Given the description of an element on the screen output the (x, y) to click on. 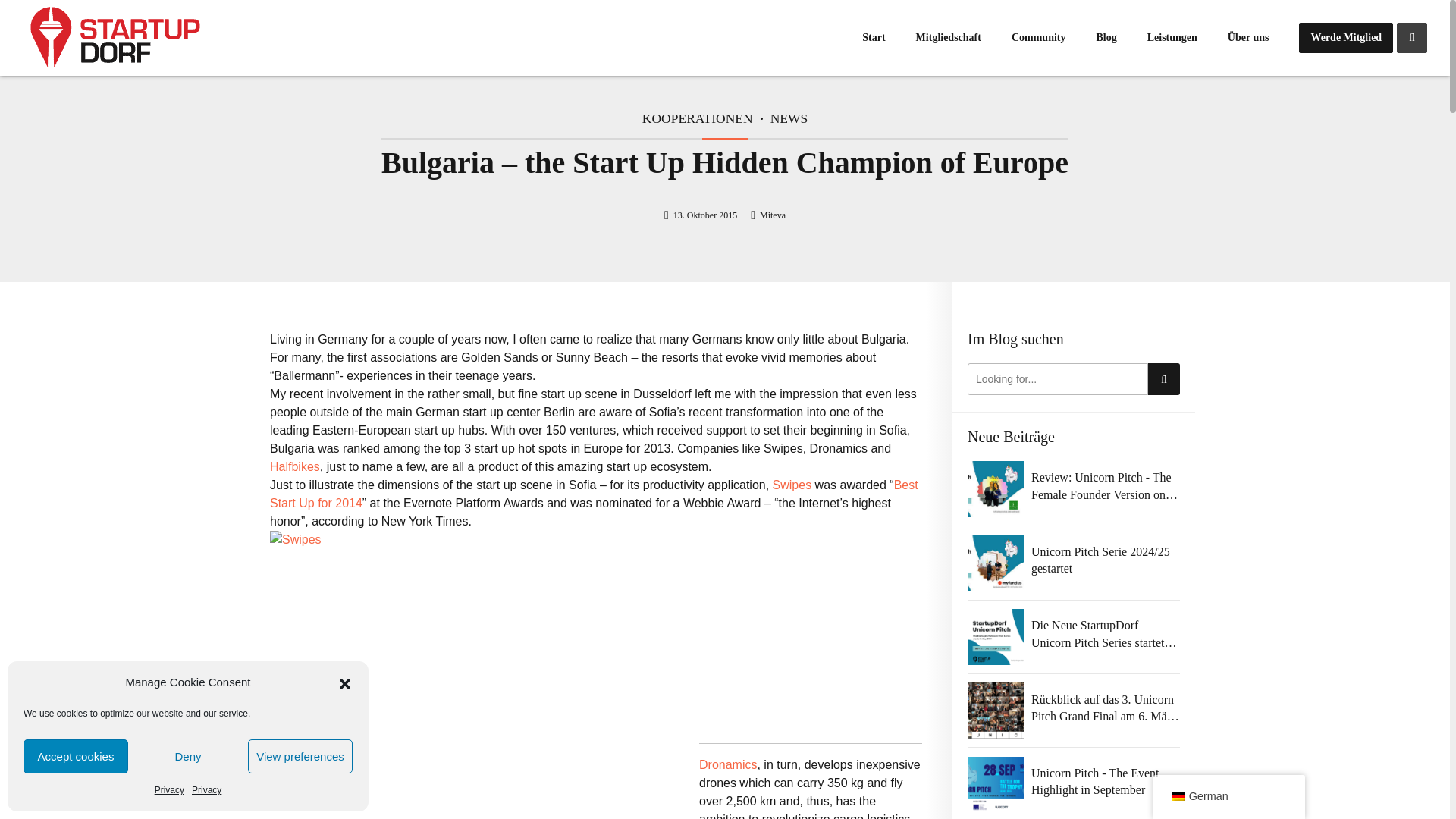
Blog (1106, 38)
Start (873, 38)
Leistungen (1171, 38)
Privacy (206, 790)
Unicorn Pitch - The Event Highlight in September (1104, 781)
Werde Mitglied (1345, 37)
Die Neue StartupDorf Unicorn Pitch Series startet im Mai (1104, 634)
View preferences (299, 756)
Accept cookies (75, 756)
Community (1038, 38)
German (1178, 795)
Mitgliedschaft (948, 38)
Privacy (169, 790)
Deny (187, 756)
